Given the description of an element on the screen output the (x, y) to click on. 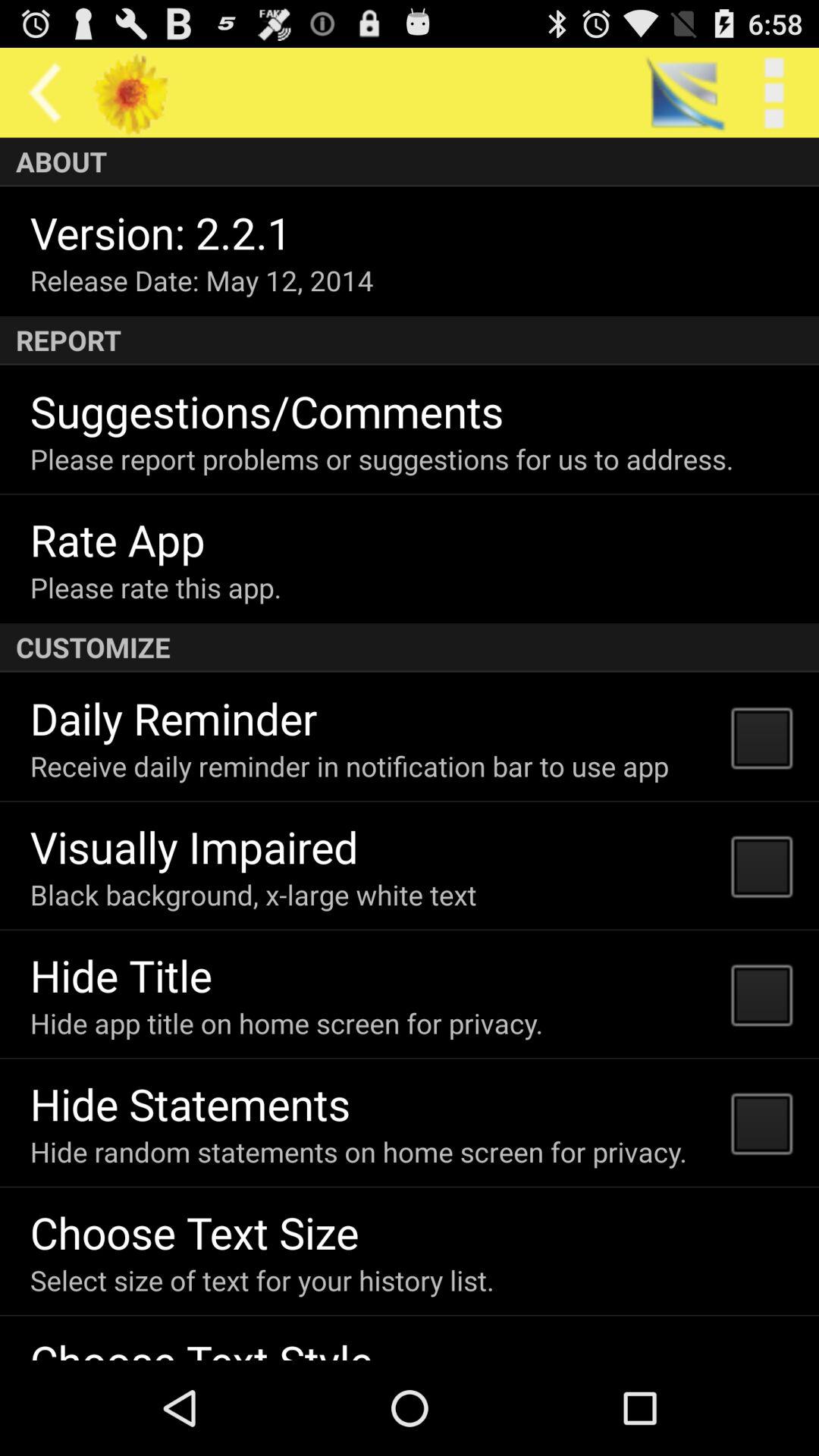
press customize icon (409, 647)
